Given the description of an element on the screen output the (x, y) to click on. 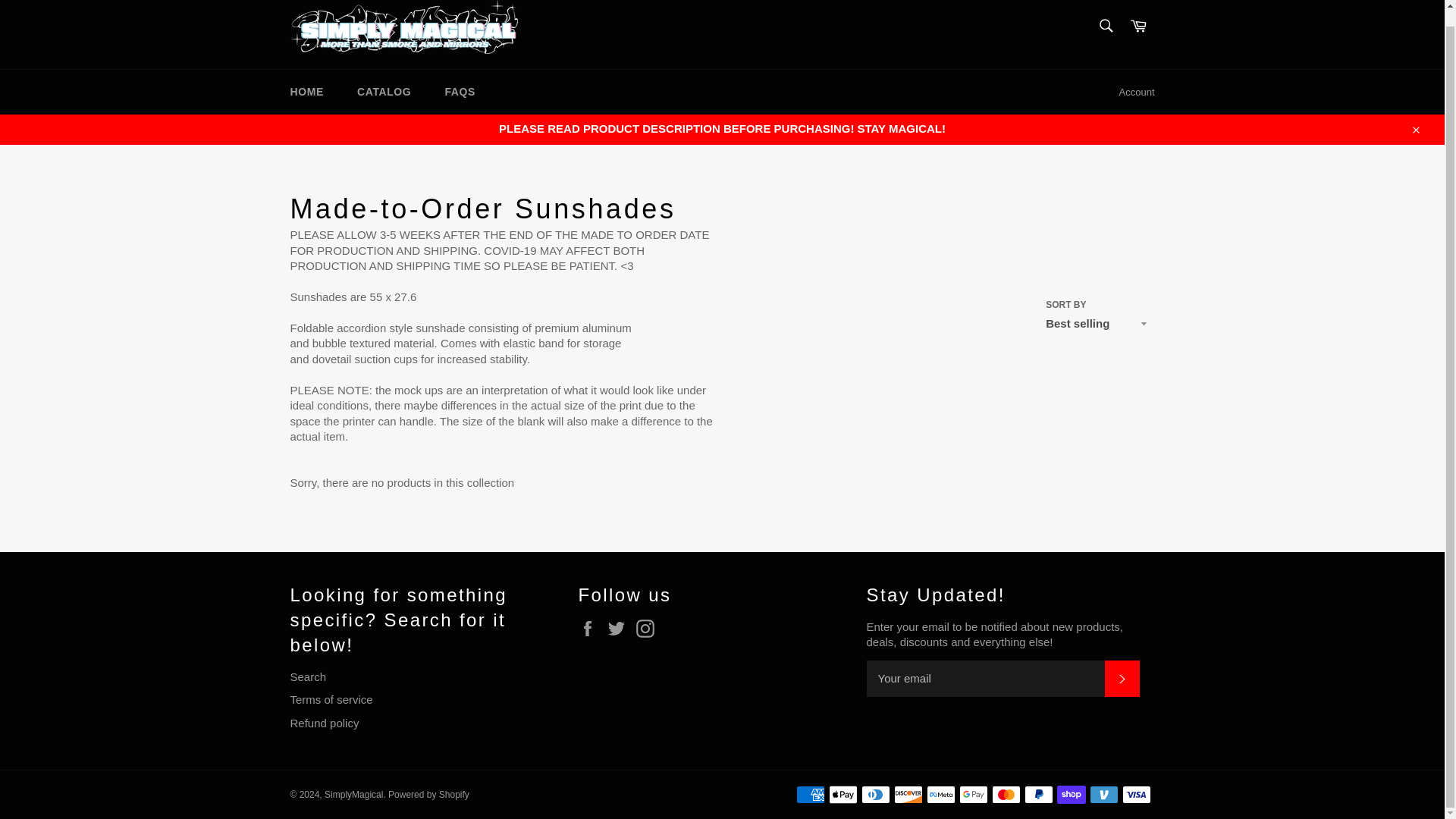
Twitter (620, 628)
Account (1136, 92)
Instagram (649, 628)
Search (1104, 25)
Close (1414, 128)
HOME (306, 91)
SimplyMagical on Twitter (620, 628)
SimplyMagical (353, 794)
Cart (1138, 26)
CATALOG (384, 91)
